Given the description of an element on the screen output the (x, y) to click on. 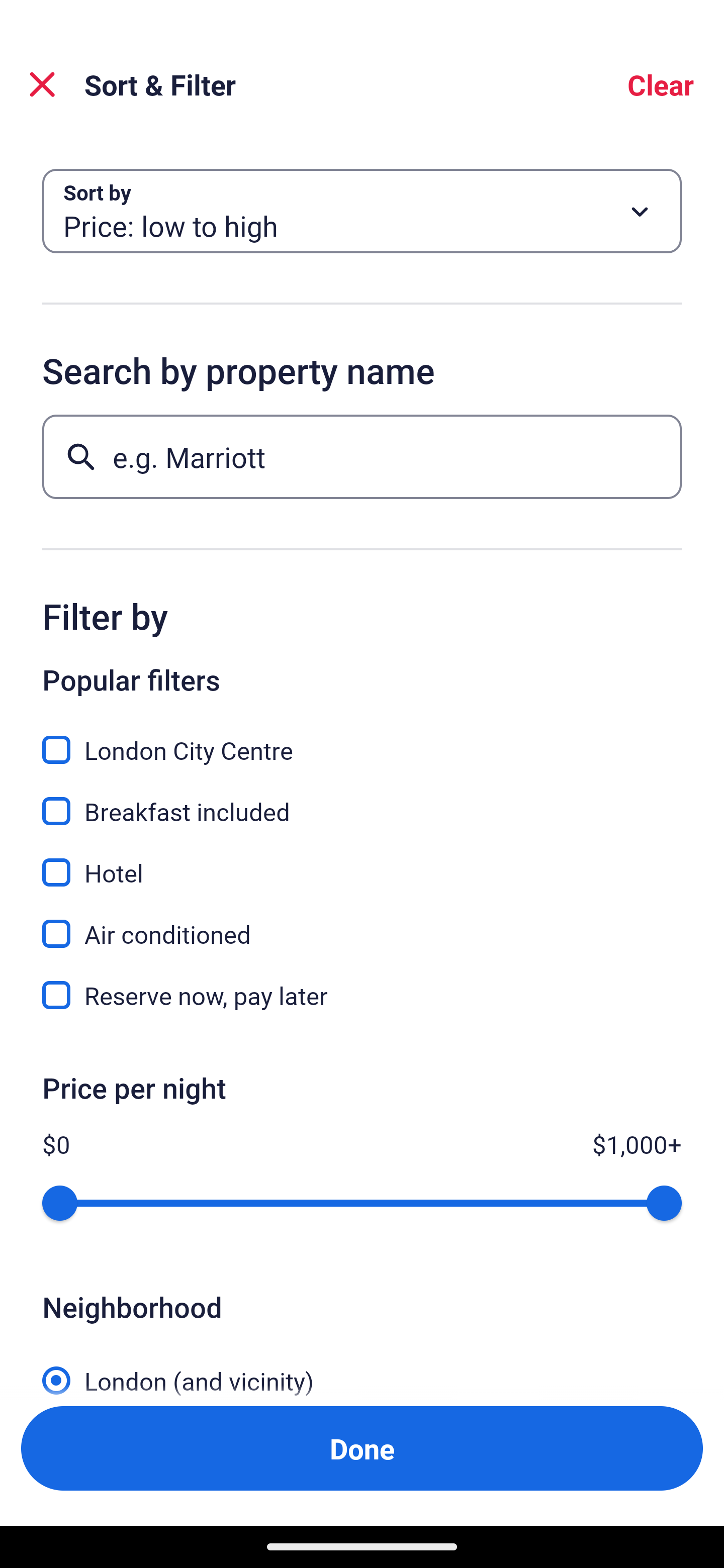
Close Sort and Filter (42, 84)
Clear (660, 84)
Sort by Button Price: low to high (361, 211)
e.g. Marriott Button (361, 455)
London City Centre, London City Centre (361, 738)
Breakfast included, Breakfast included (361, 800)
Hotel, Hotel (361, 861)
Air conditioned, Air conditioned (361, 922)
Reserve now, pay later, Reserve now, pay later (361, 995)
Apply and close Sort and Filter Done (361, 1448)
